Given the description of an element on the screen output the (x, y) to click on. 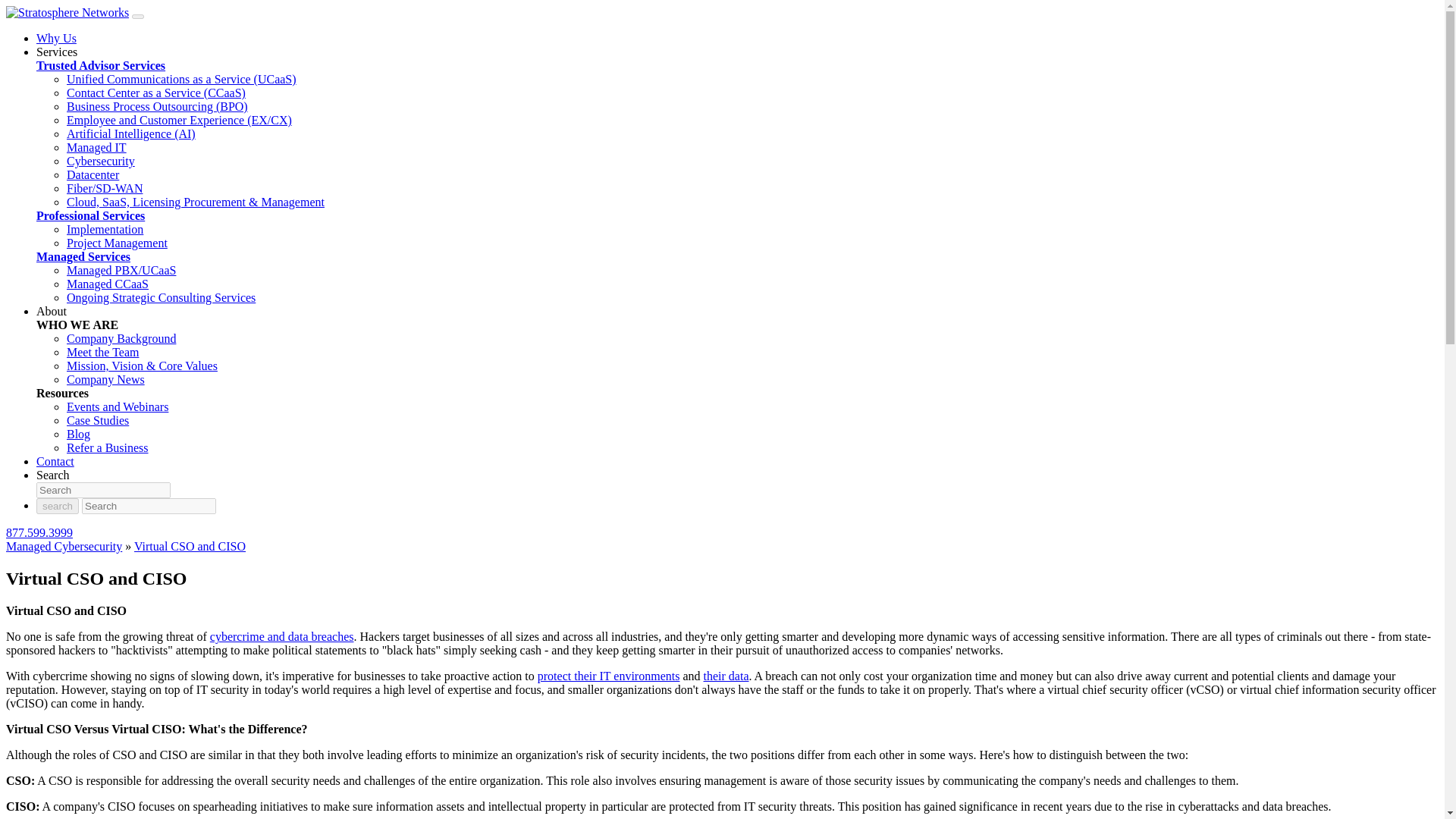
Virtual CSO and CISO (189, 545)
About (51, 310)
Search (52, 474)
their data (726, 675)
877.599.3999 (38, 532)
search (57, 505)
Datacenter (92, 174)
Professional Services (90, 215)
Project Management (116, 242)
Blog (78, 433)
Ongoing Strategic Consulting Services (161, 297)
Refer a Business (107, 447)
Managed Services (83, 256)
protect their IT environments (608, 675)
Managed CCaaS (107, 283)
